Given the description of an element on the screen output the (x, y) to click on. 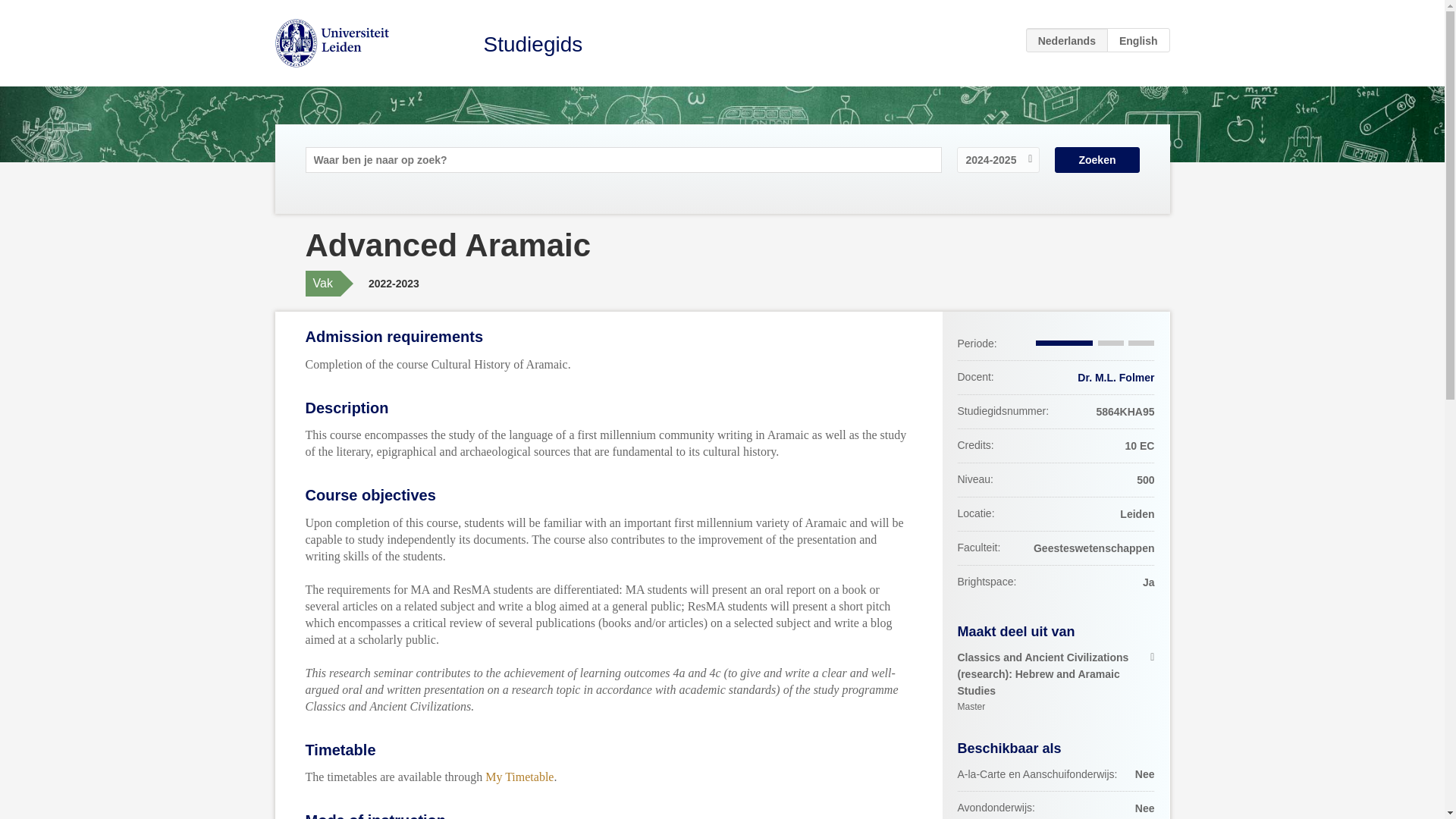
Dr. M.L. Folmer (1115, 377)
Studiegids (533, 44)
EN (1138, 39)
Zoeken (1096, 159)
My Timetable (518, 776)
